Given the description of an element on the screen output the (x, y) to click on. 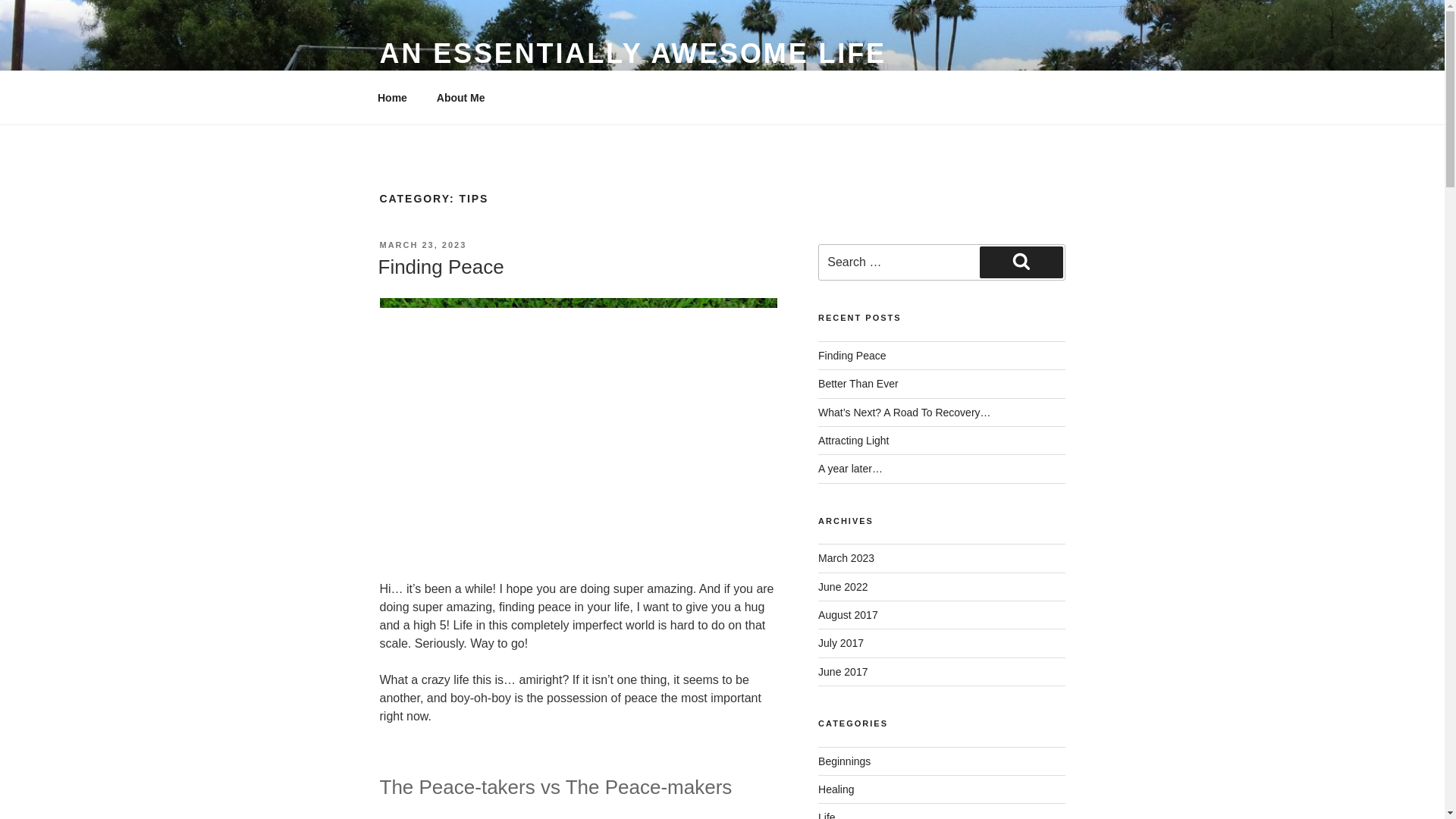
Home (392, 97)
June 2022 (842, 586)
Search (1020, 262)
Finding Peace (852, 355)
MARCH 23, 2023 (421, 244)
About Me (460, 97)
March 2023 (846, 558)
Attracting Light (853, 440)
AN ESSENTIALLY AWESOME LIFE (632, 52)
Beginnings (844, 761)
June 2017 (842, 671)
Finding Peace (440, 266)
Better Than Ever (858, 383)
Life (826, 815)
Healing (835, 788)
